Given the description of an element on the screen output the (x, y) to click on. 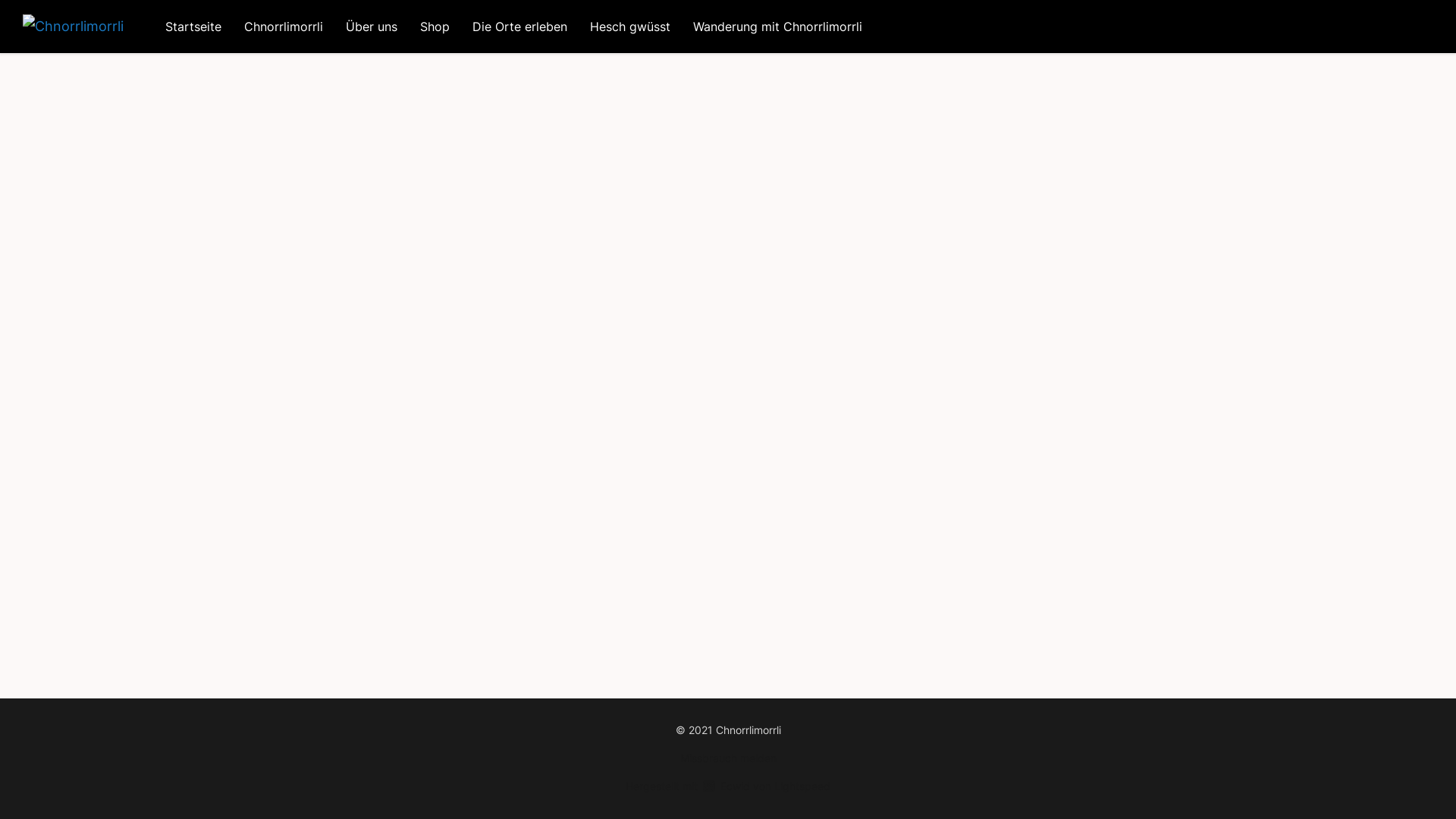
Shop Element type: text (434, 26)
Wanderung mit Chnorrlimorrli Element type: text (777, 26)
Hergestellt mit
Ecwid von Lightspeed Element type: text (727, 786)
Missbrauch melden Element type: text (727, 758)
Die Orte erleben Element type: text (519, 26)
Chnorrlimorrli Element type: text (283, 26)
Startseite Element type: text (192, 26)
